Given the description of an element on the screen output the (x, y) to click on. 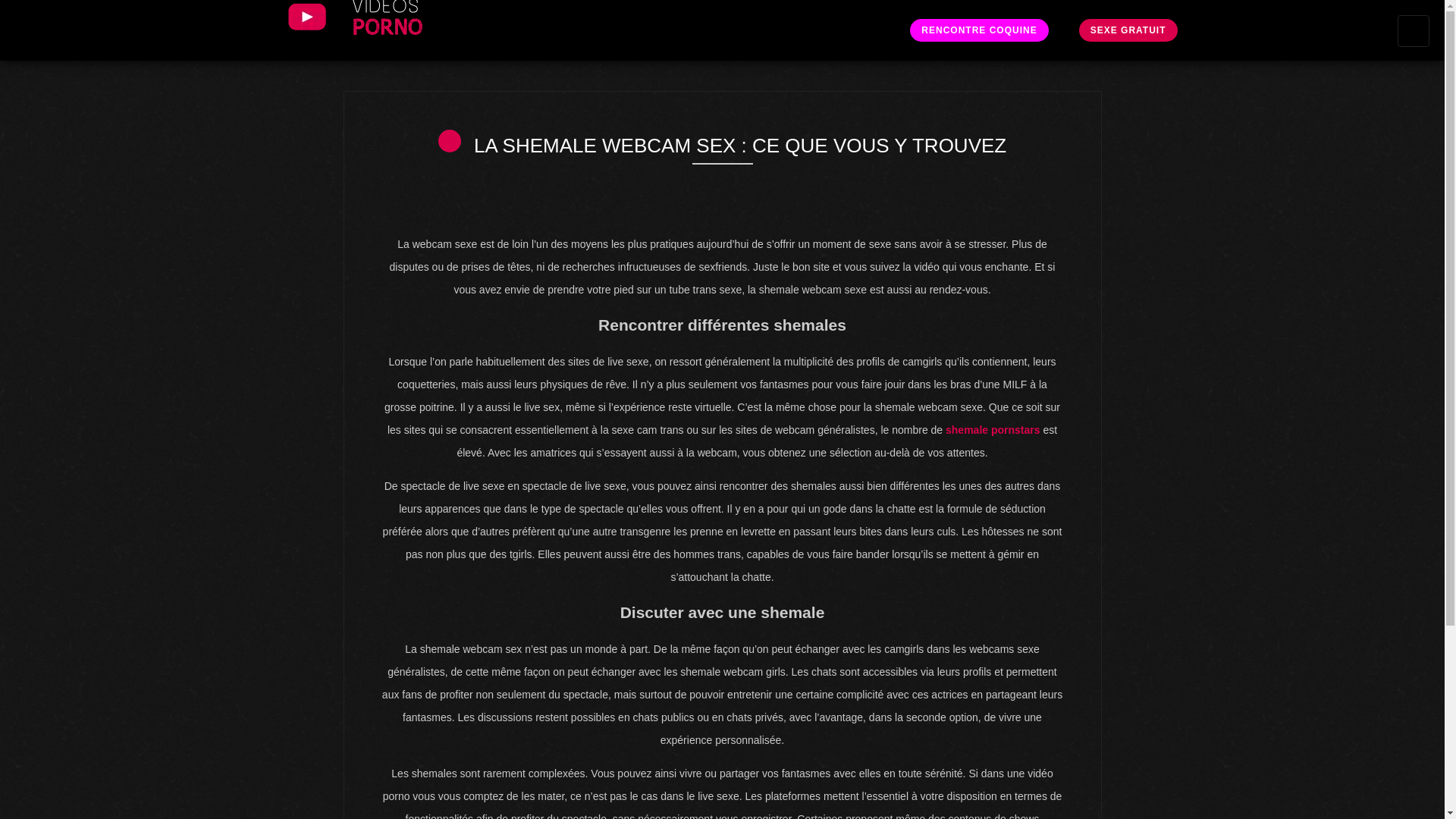
SEXE GRATUIT Element type: text (1128, 29)
shemale pornstars Element type: text (992, 429)
RENCONTRE COQUINE Element type: text (979, 29)
